Given the description of an element on the screen output the (x, y) to click on. 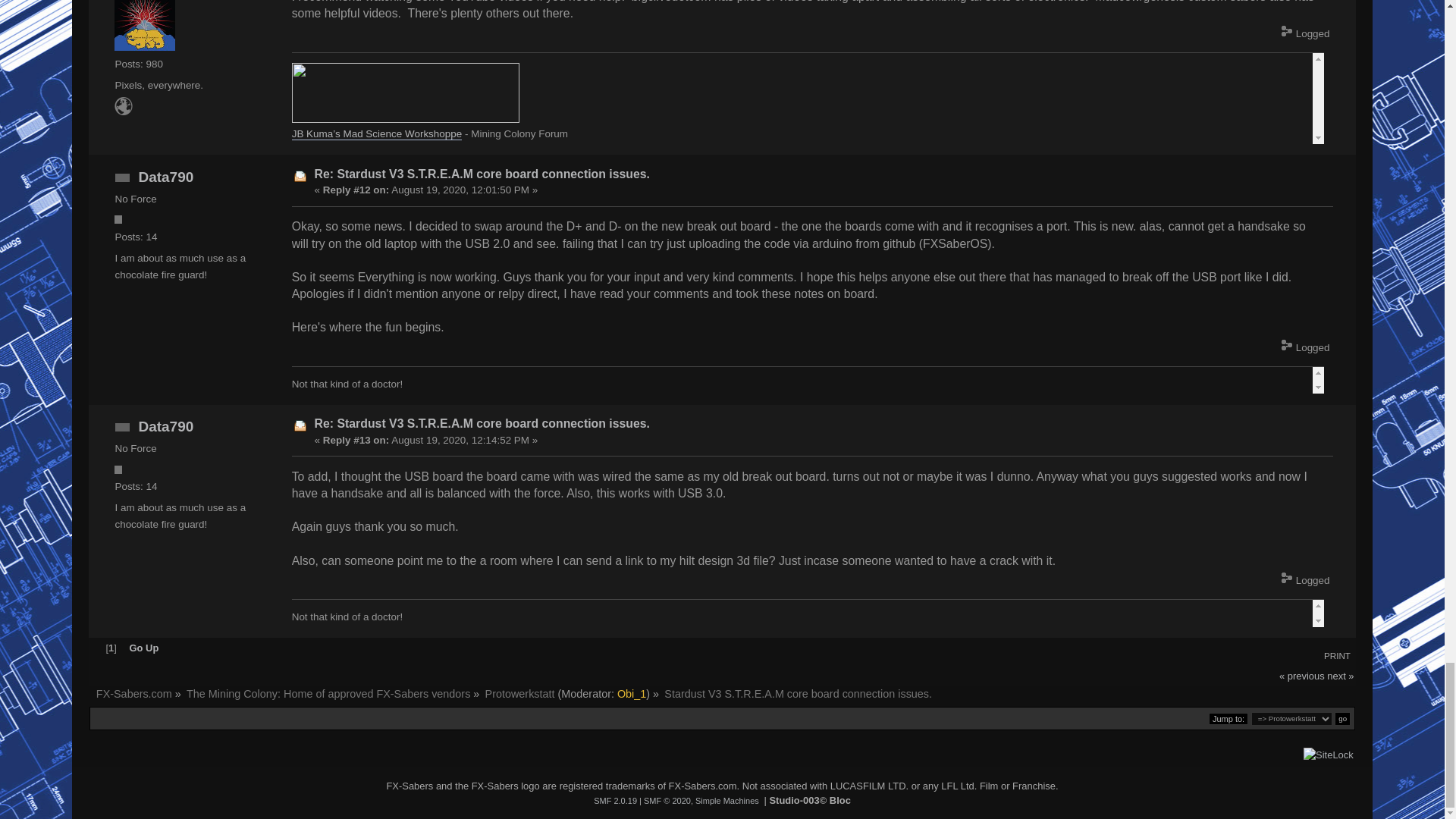
go (1343, 717)
